Given the description of an element on the screen output the (x, y) to click on. 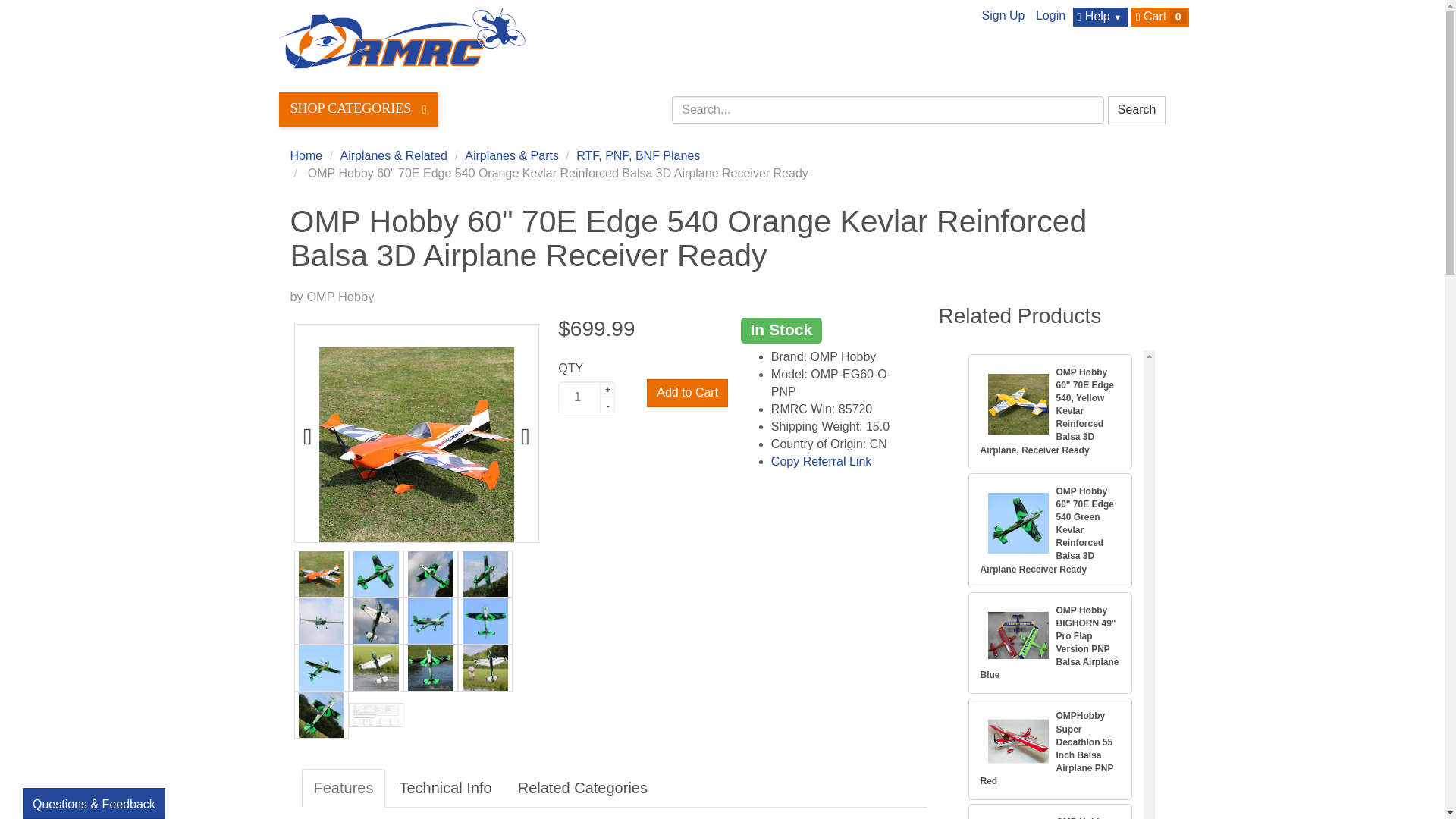
Search (1137, 110)
Login (1050, 15)
1 (585, 397)
Cart 0 (1161, 16)
Search (1137, 110)
Sign Up (1003, 15)
SHOP CATEGORIES (358, 108)
Ready Made RC LLC, The Best in FPV Since 2009 (402, 37)
